Given the description of an element on the screen output the (x, y) to click on. 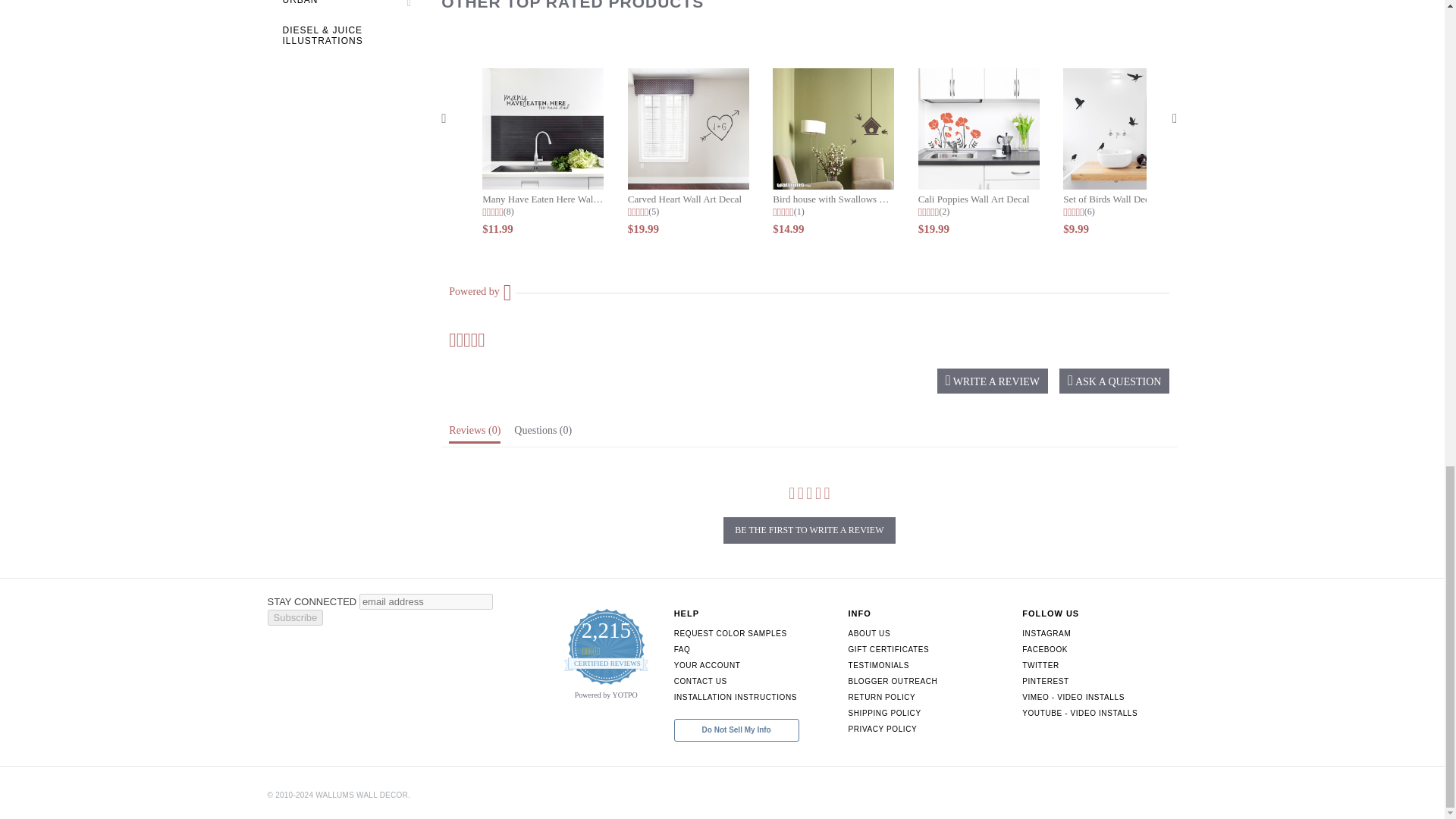
Subscribe (294, 617)
